Given the description of an element on the screen output the (x, y) to click on. 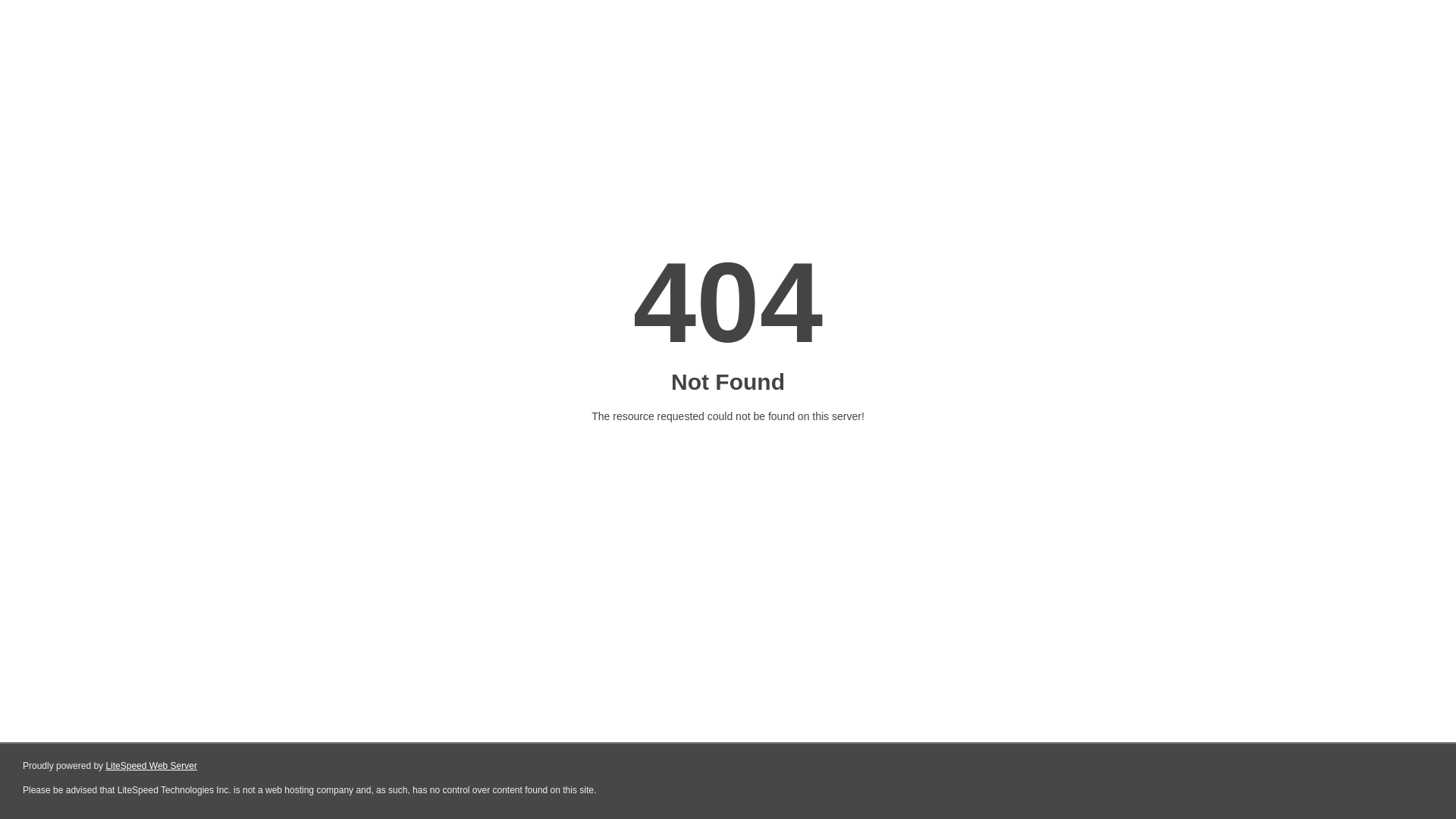
LiteSpeed Web Server Element type: text (151, 765)
